Given the description of an element on the screen output the (x, y) to click on. 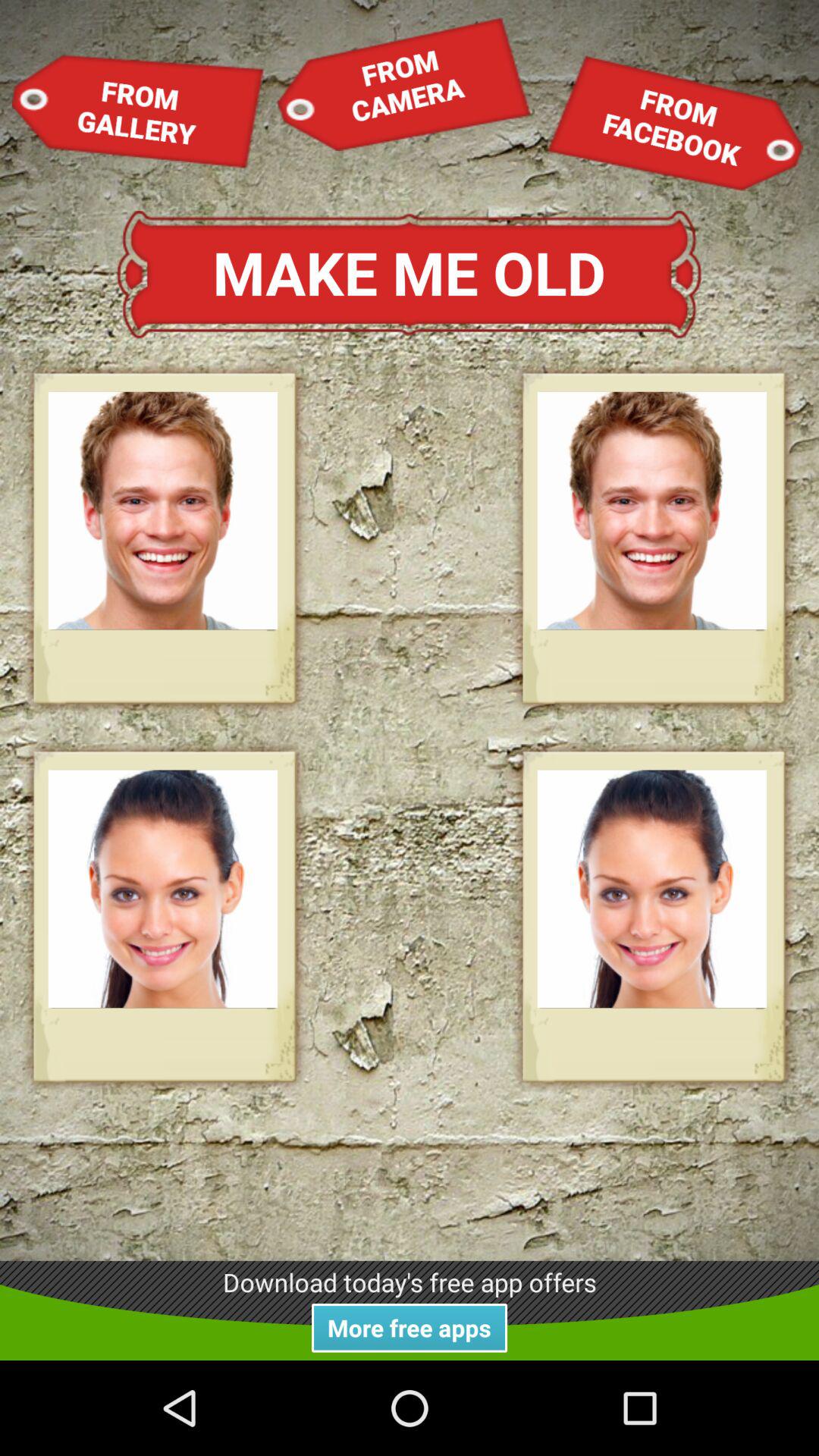
jump until the from
gallery item (137, 110)
